Given the description of an element on the screen output the (x, y) to click on. 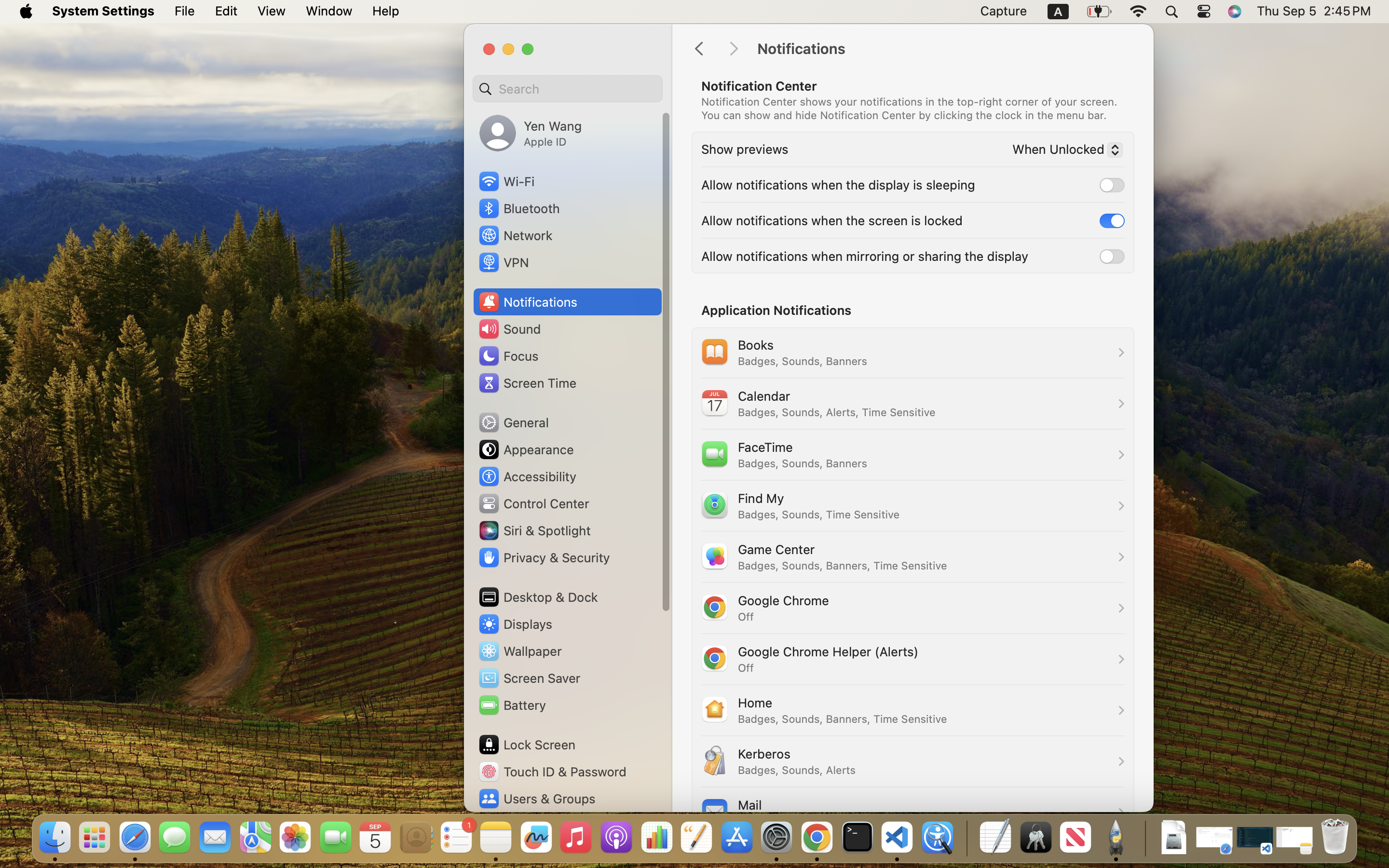
VPN Element type: AXStaticText (502, 261)
Allow notifications when mirroring or sharing the display Element type: AXStaticText (864, 255)
1 Element type: AXCheckBox (1111, 220)
Yen Wang, Apple ID Element type: AXStaticText (530, 132)
When Unlocked Element type: AXPopUpButton (1063, 150)
